Given the description of an element on the screen output the (x, y) to click on. 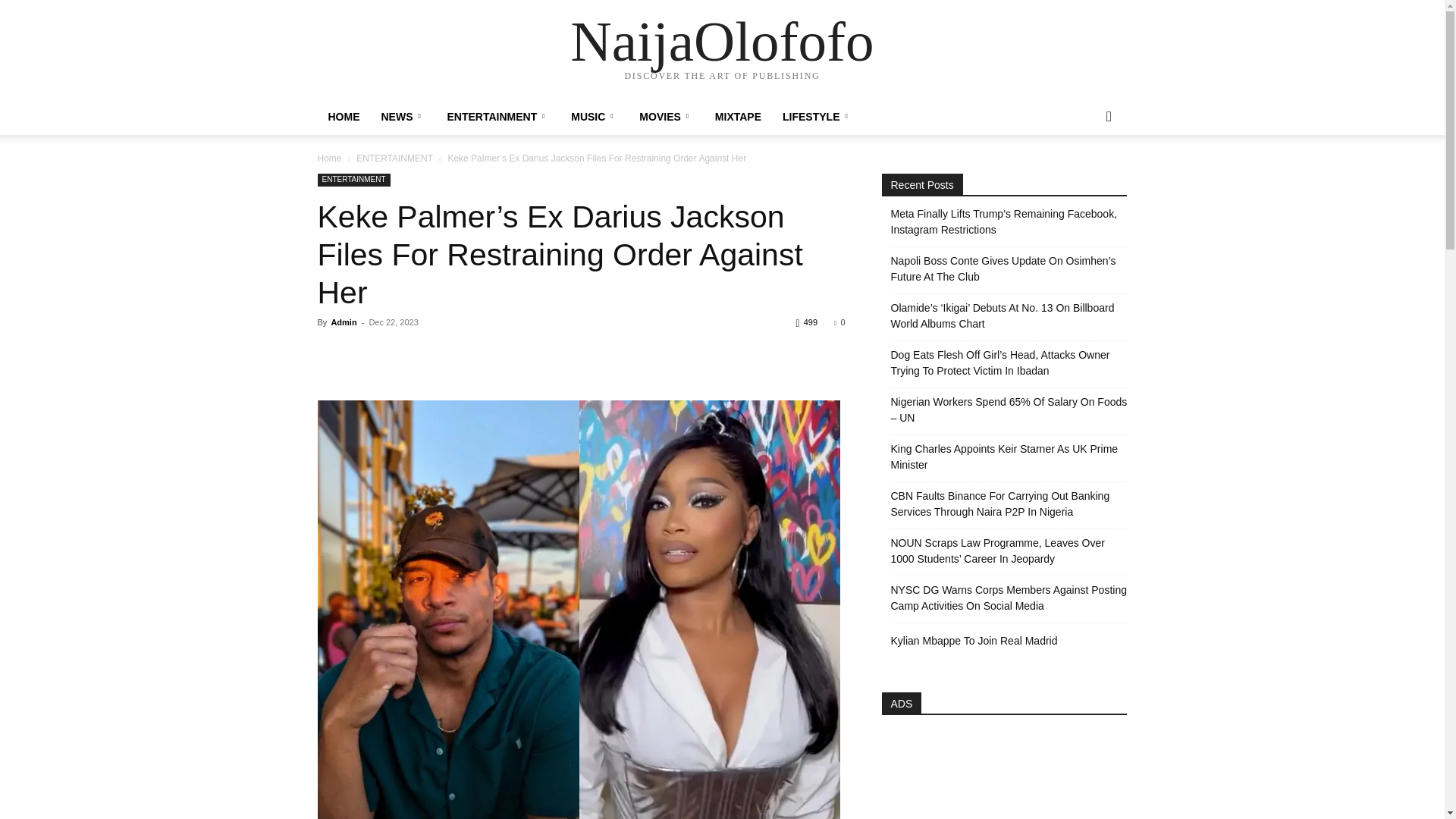
HOME (343, 116)
ENTERTAINMENT (498, 116)
MUSIC (594, 116)
Search (1085, 177)
NaijaOlofofo (722, 41)
ENTERTAINMENT (394, 158)
MIXTAPE (737, 116)
MOVIES (665, 116)
NEWS (402, 116)
